Given the description of an element on the screen output the (x, y) to click on. 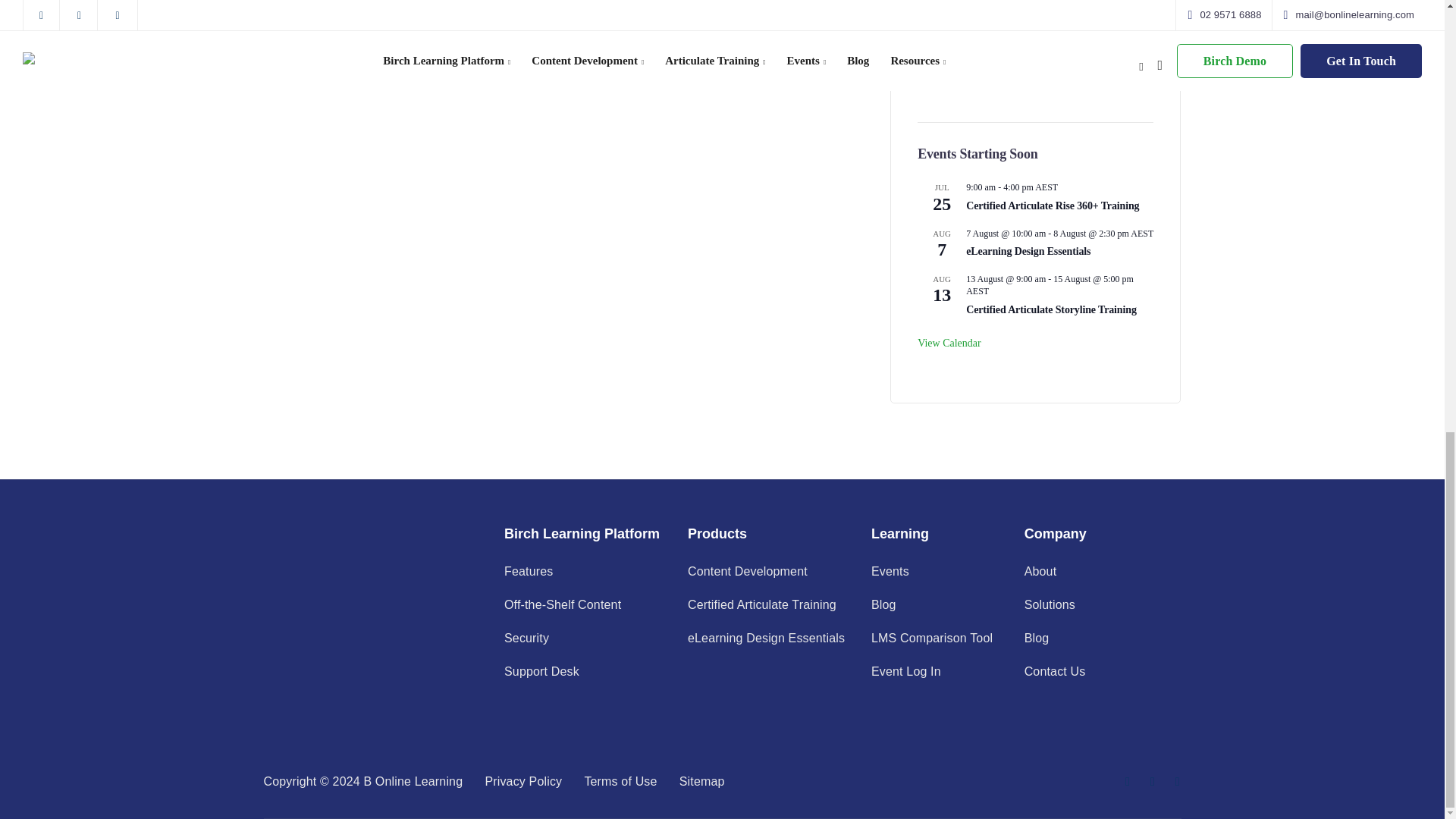
Certified Articulate Storyline Training (1051, 309)
View more events. (949, 343)
eLearning Design Essentials (1028, 251)
